Given the description of an element on the screen output the (x, y) to click on. 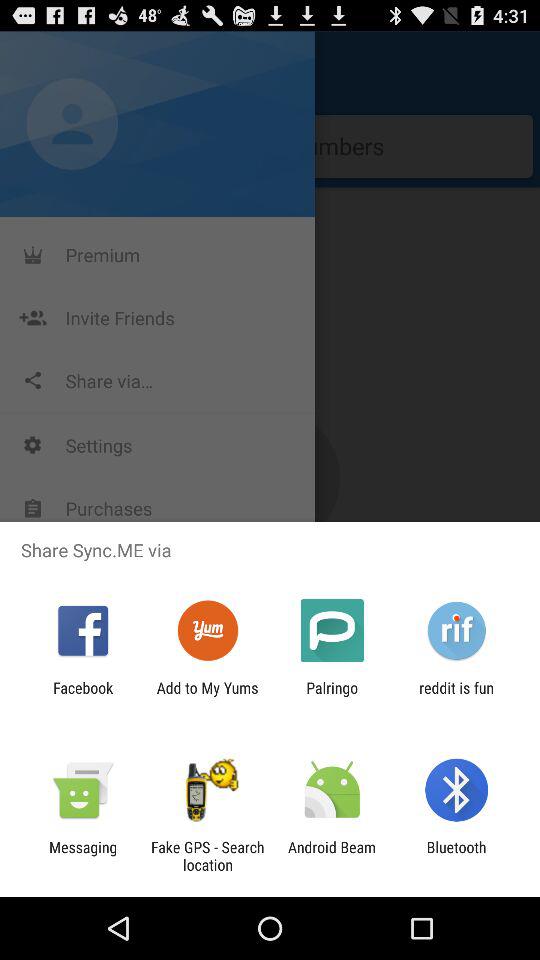
turn on messaging item (83, 856)
